Given the description of an element on the screen output the (x, y) to click on. 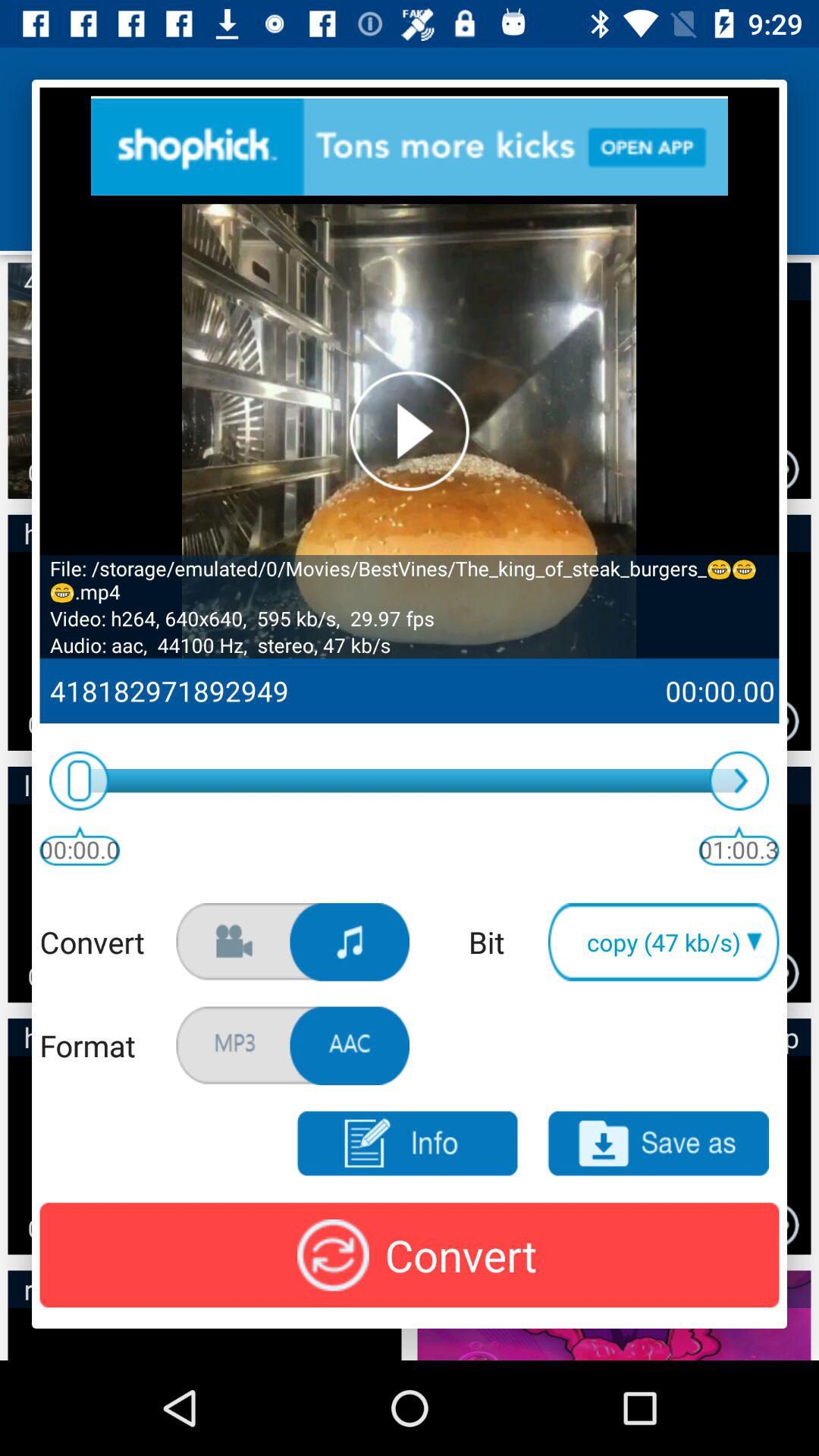
music option (349, 942)
